Given the description of an element on the screen output the (x, y) to click on. 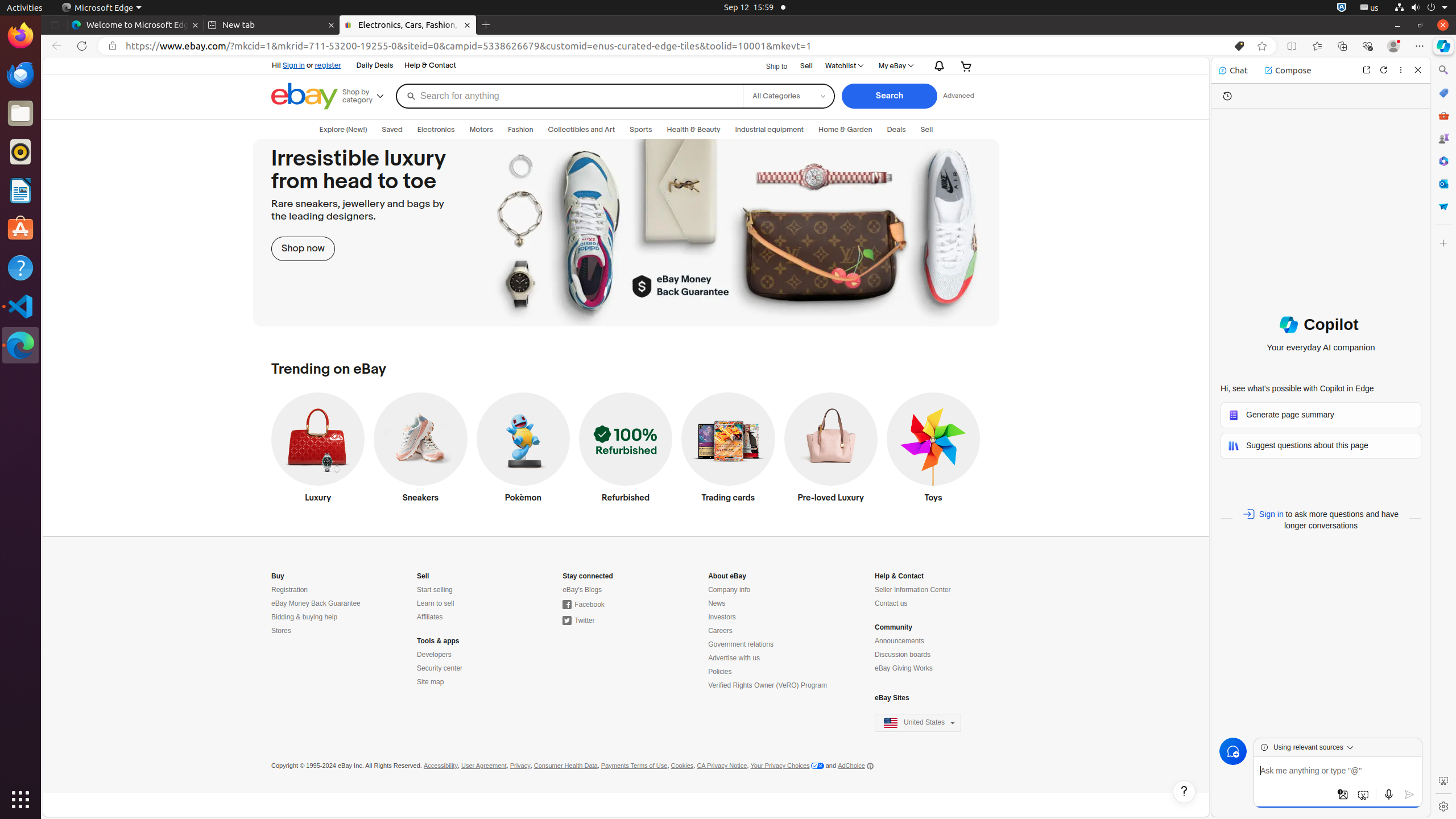
Daily Deals Element type: link (374, 65)
Firefox Web Browser Element type: push-button (20, 35)
Favorites Element type: push-button (1316, 45)
Settings and more (Alt+F) Element type: push-button (1419, 45)
Search Element type: push-button (889, 95)
